Given the description of an element on the screen output the (x, y) to click on. 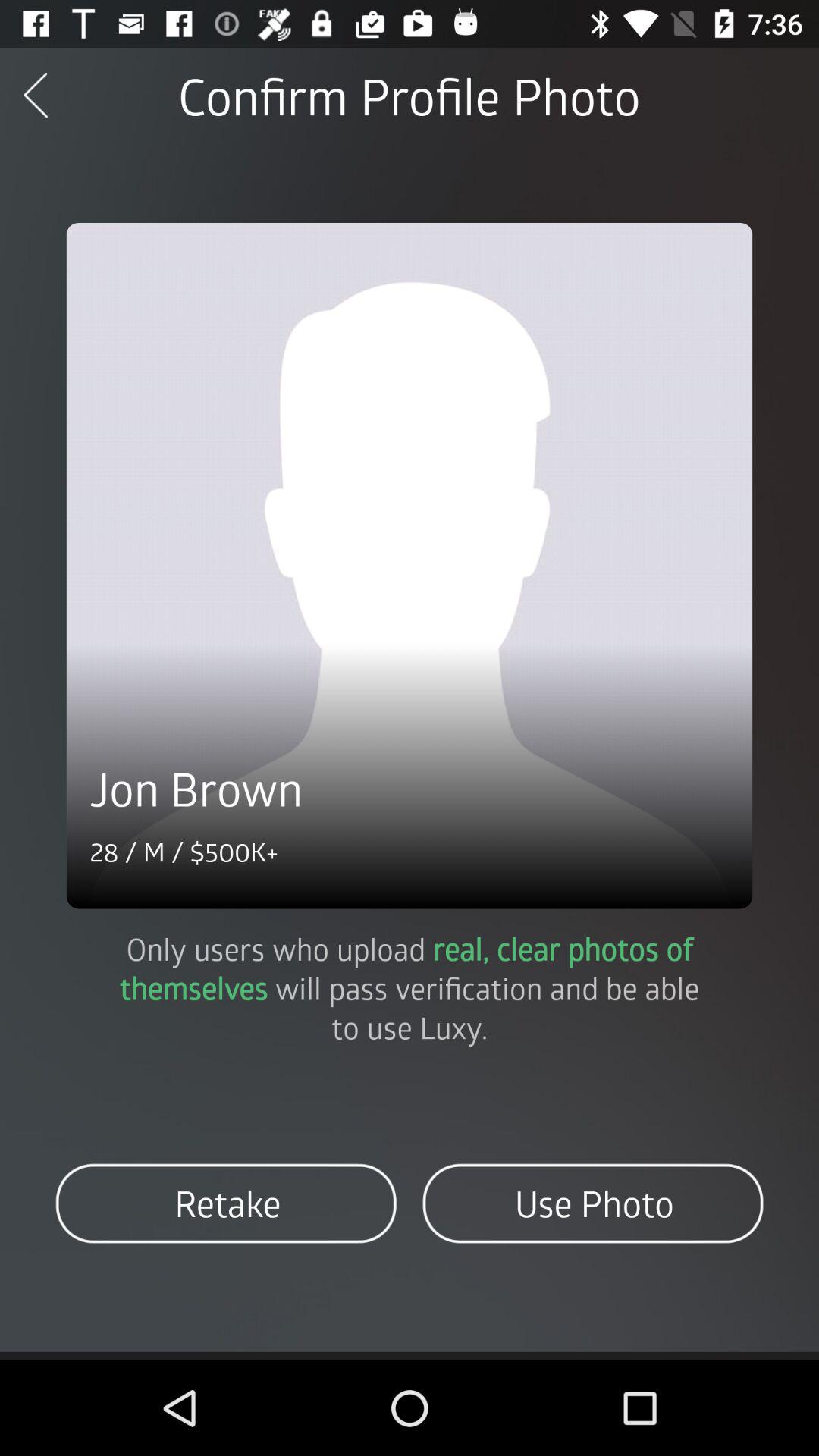
expand picture (409, 565)
